Given the description of an element on the screen output the (x, y) to click on. 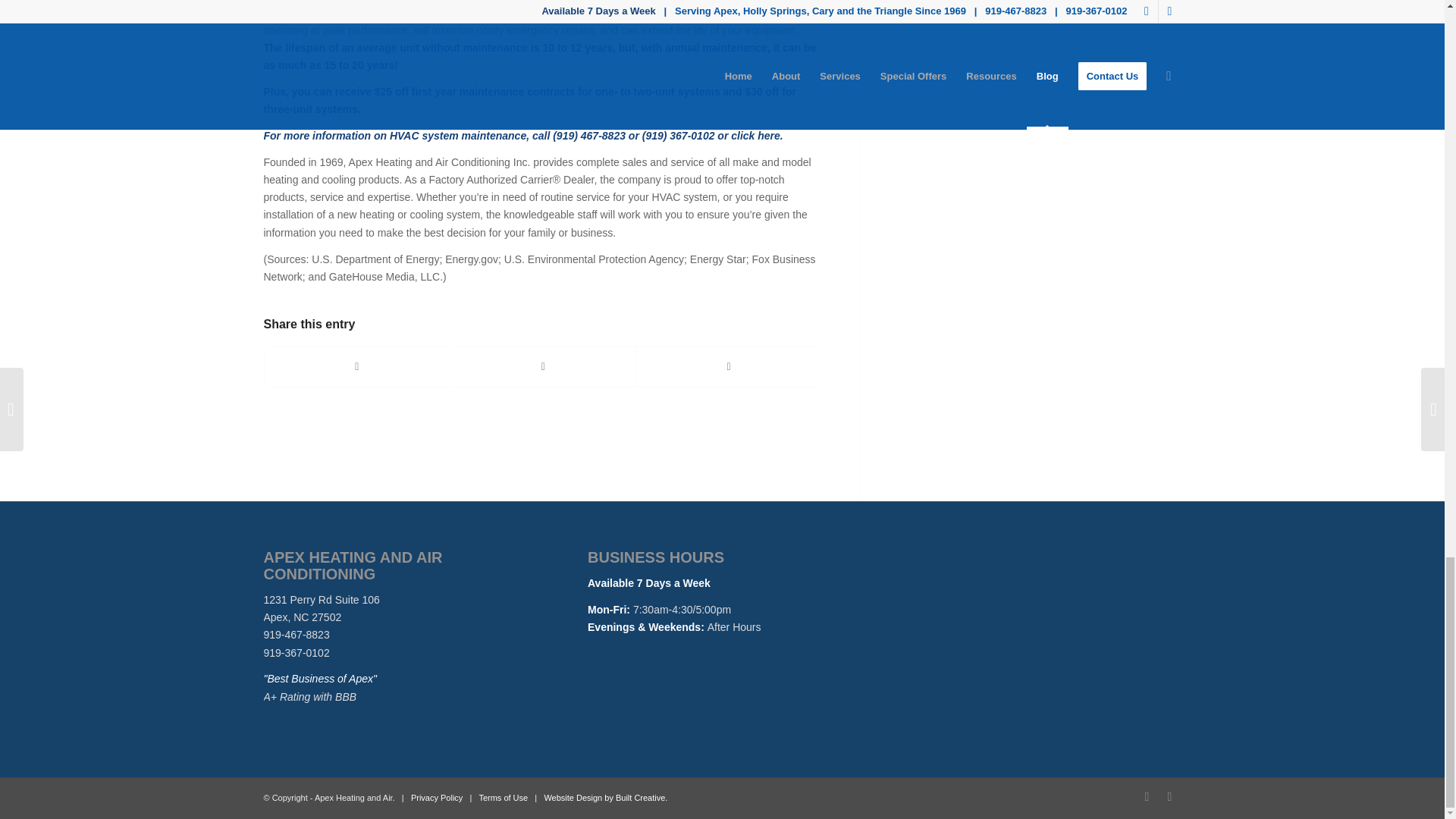
Facebook (1146, 796)
click here (755, 135)
X (1169, 796)
